Given the description of an element on the screen output the (x, y) to click on. 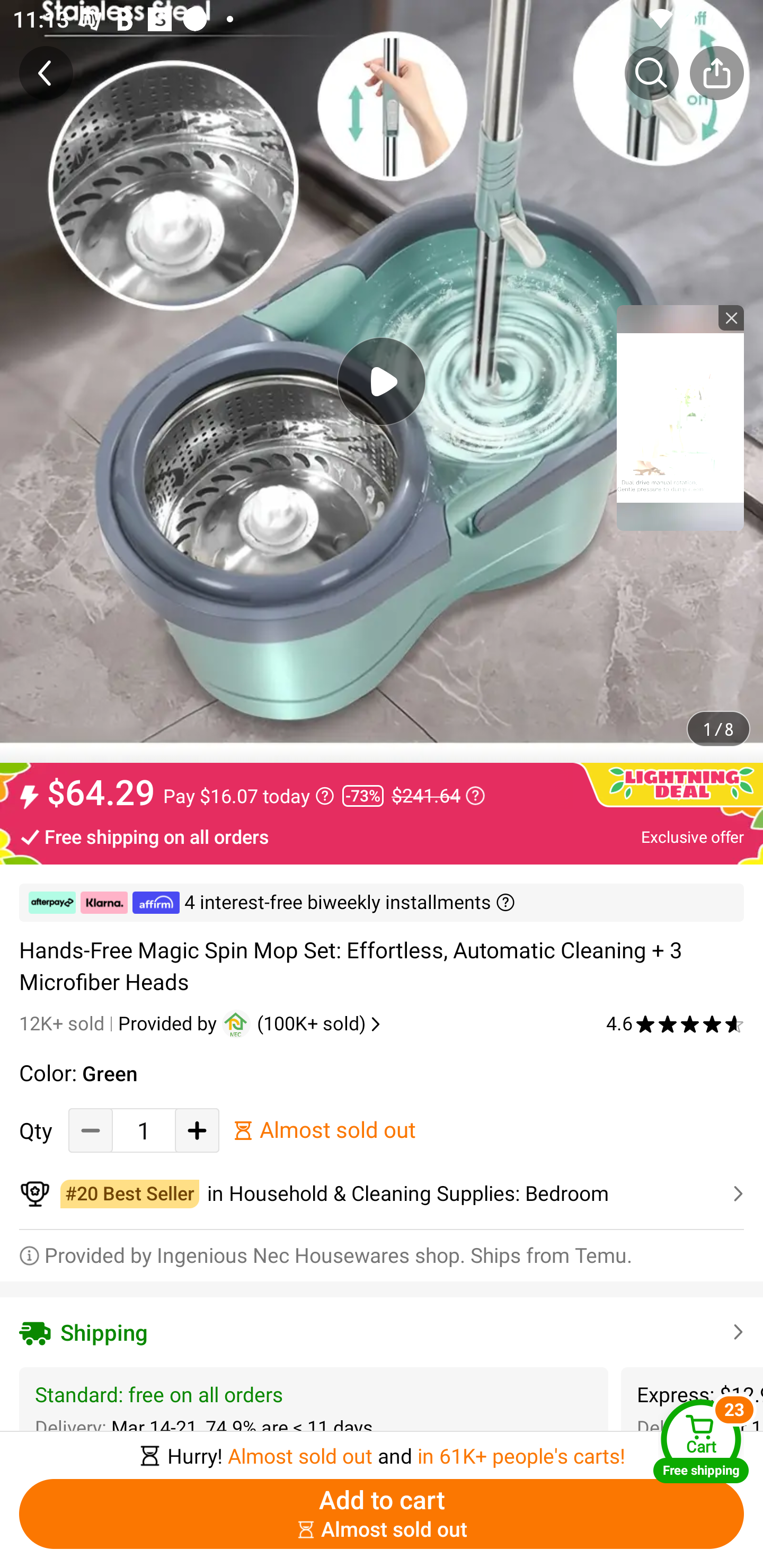
Back (46, 72)
Share (716, 72)
tronplayer_view (680, 417)
Pay $16.07 today   (248, 795)
Free shipping on all orders Exclusive offer (381, 836)
￼ ￼ ￼ 4 interest-free biweekly installments ￼ (381, 902)
4.6 (674, 1023)
Decrease Quantity Button (90, 1130)
1 (143, 1130)
Add Quantity button (196, 1130)
￼￼in Household & Cleaning Supplies: Bedroom (381, 1193)
Shipping (381, 1331)
Cart Free shipping Cart (701, 1440)
Add to cart ￼￼Almost sold out (381, 1513)
